Given the description of an element on the screen output the (x, y) to click on. 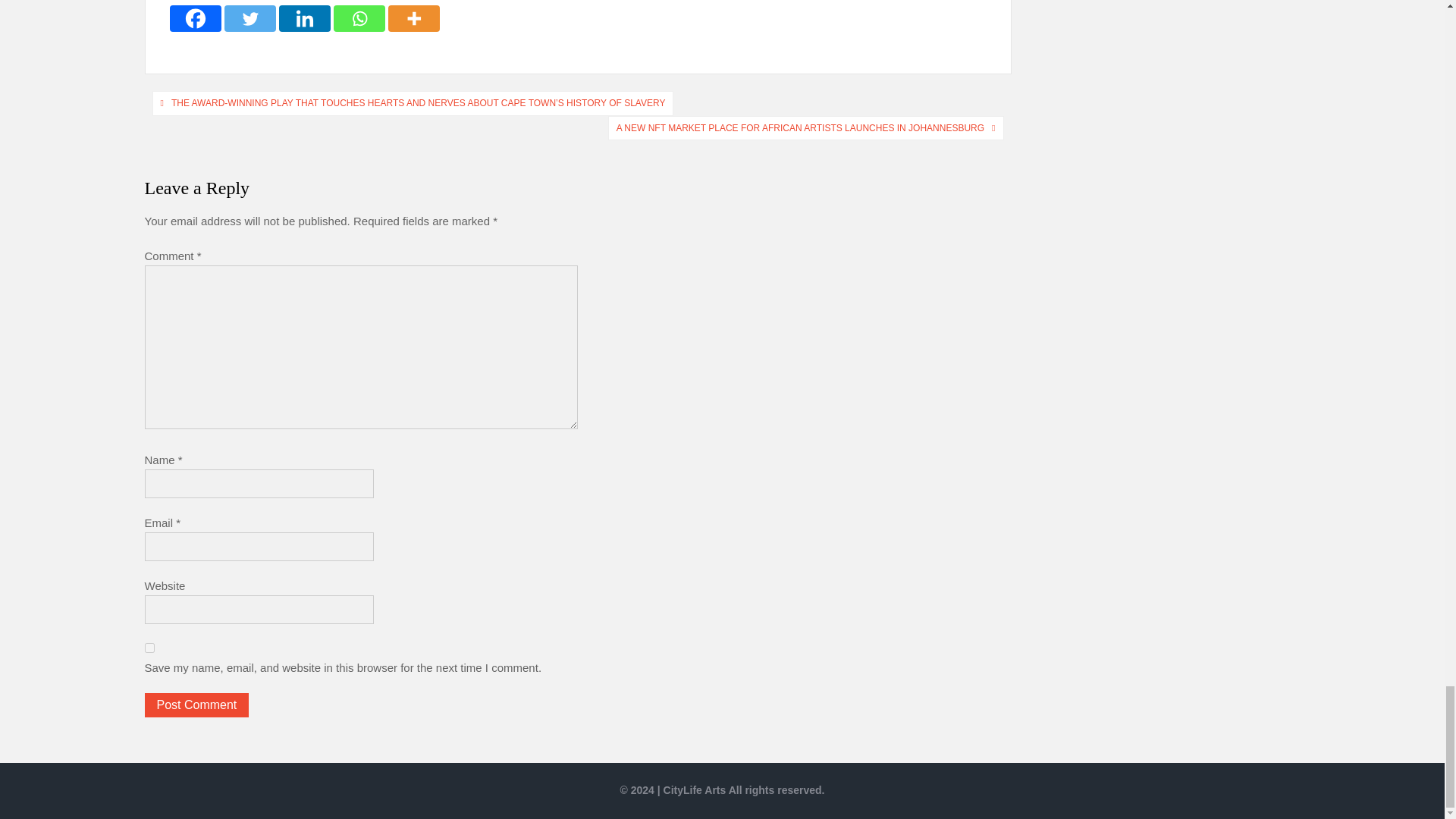
Post Comment (196, 704)
yes (149, 647)
